Given the description of an element on the screen output the (x, y) to click on. 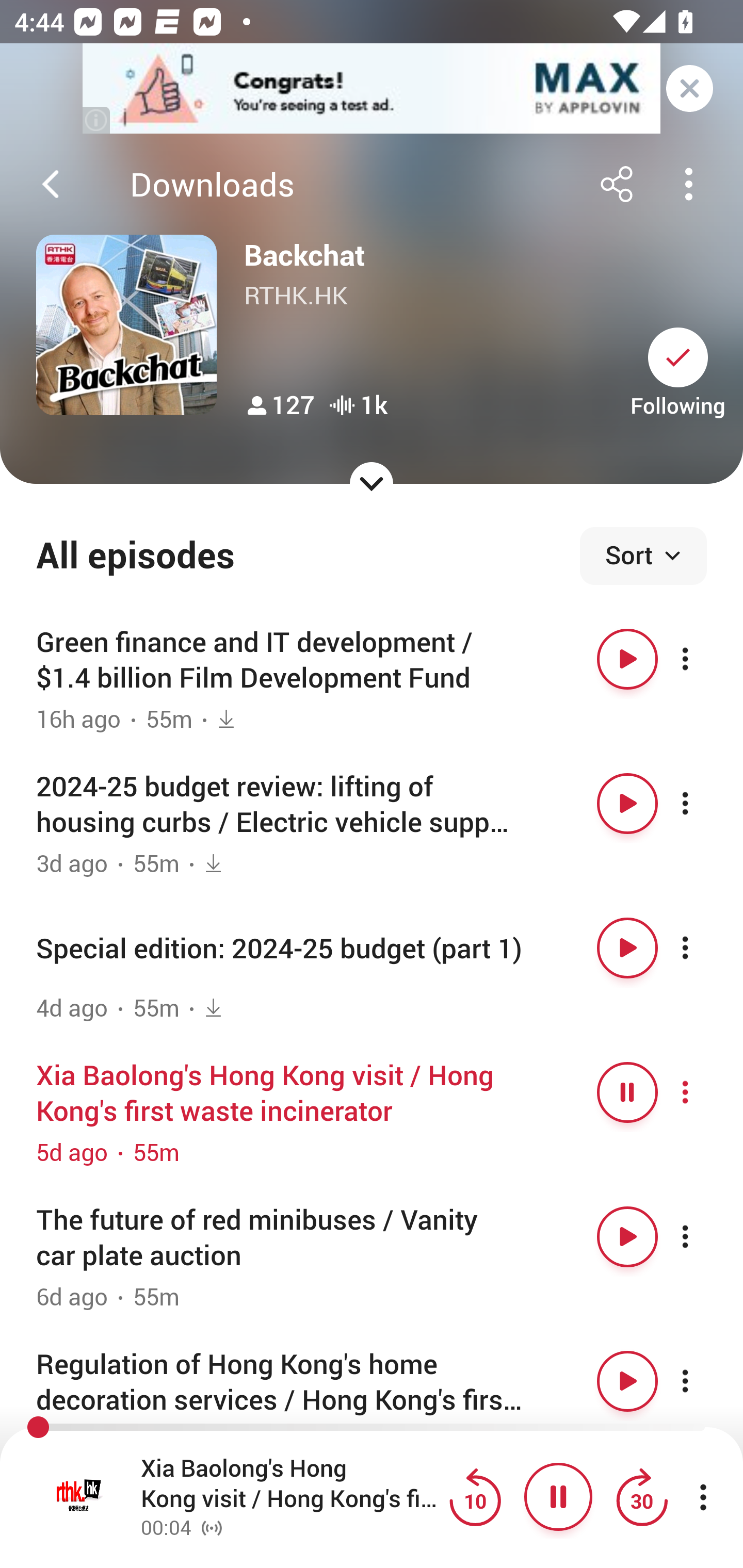
app-monetization (371, 88)
(i) (96, 119)
Back (50, 184)
Unsubscribe button (677, 357)
Sort episodes Sort (643, 555)
Play button (627, 659)
More options (703, 659)
Play button (627, 803)
More options (703, 803)
Play button (627, 947)
More options (703, 947)
Pause button (627, 1092)
More options (703, 1092)
Play button (627, 1236)
More options (703, 1236)
Play button (627, 1381)
More options (703, 1381)
Open fullscreen player (79, 1497)
More player controls (703, 1497)
Pause button (558, 1496)
Jump back (475, 1497)
Jump forward (641, 1497)
